Given the description of an element on the screen output the (x, y) to click on. 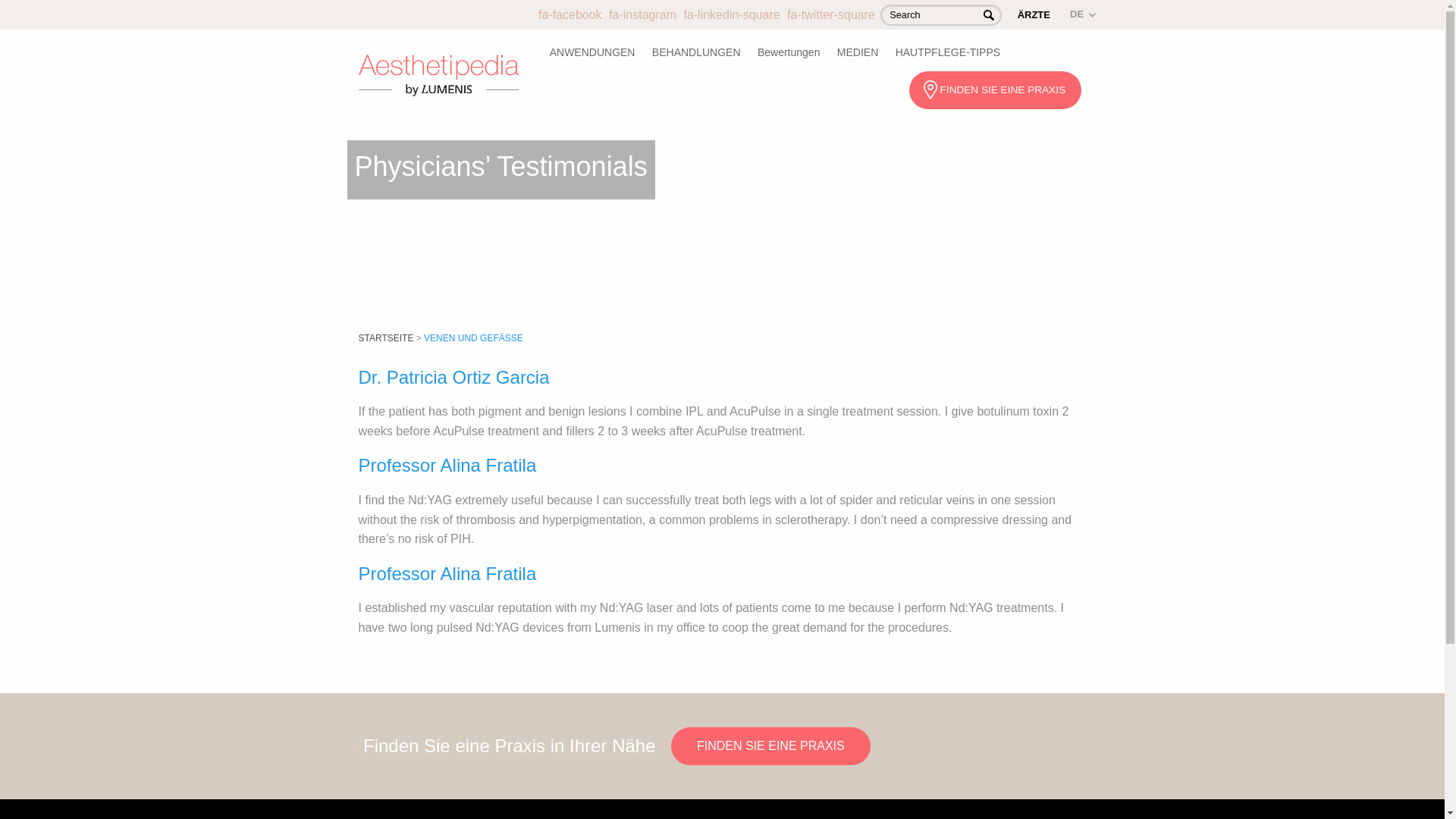
Search (940, 14)
Suche (989, 14)
Suche (989, 14)
